Given the description of an element on the screen output the (x, y) to click on. 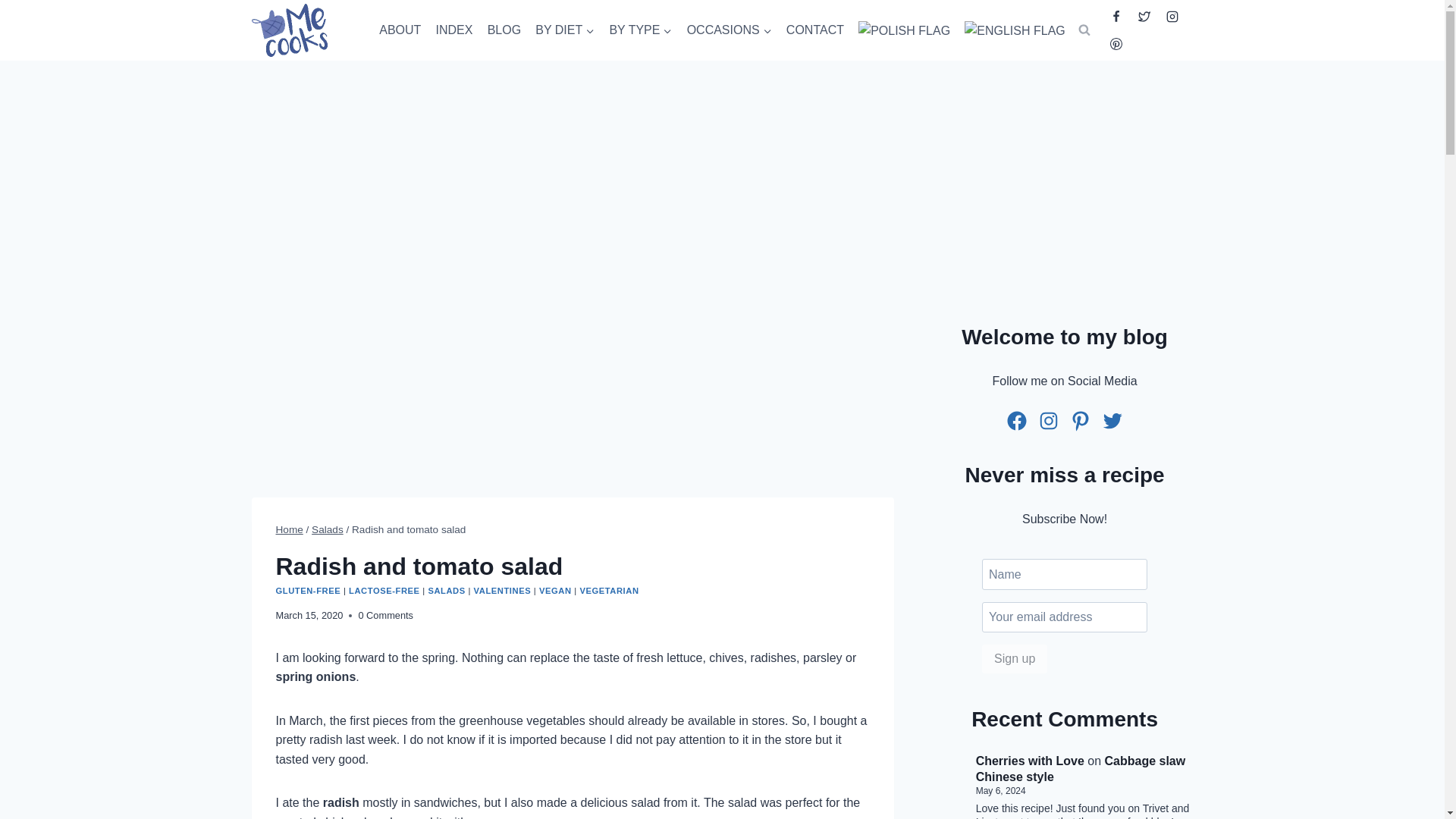
INDEX (454, 30)
Sign up (1013, 658)
0 Comments (385, 615)
ABOUT (400, 30)
BY TYPE (640, 30)
BLOG (504, 30)
CONTACT (814, 30)
BY DIET (565, 30)
OCCASIONS (728, 30)
